Given the description of an element on the screen output the (x, y) to click on. 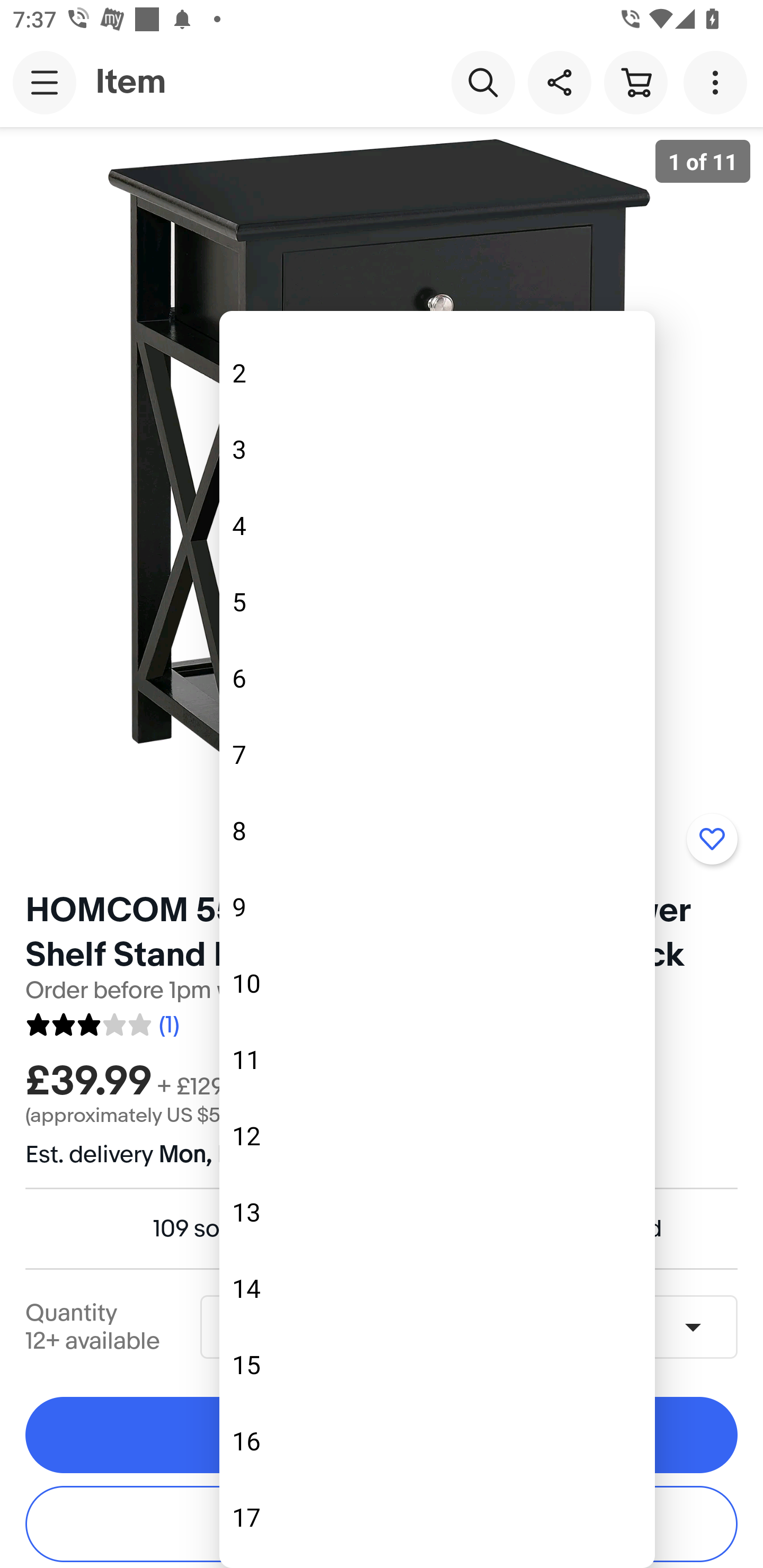
2 (436, 372)
3 (436, 448)
4 (436, 524)
5 (436, 600)
6 (436, 677)
7 (436, 753)
8 (436, 829)
9 (436, 906)
10 (436, 982)
11 (436, 1058)
12 (436, 1135)
13 (436, 1211)
14 (436, 1287)
15 (436, 1364)
16 (436, 1440)
17 (436, 1516)
